Given the description of an element on the screen output the (x, y) to click on. 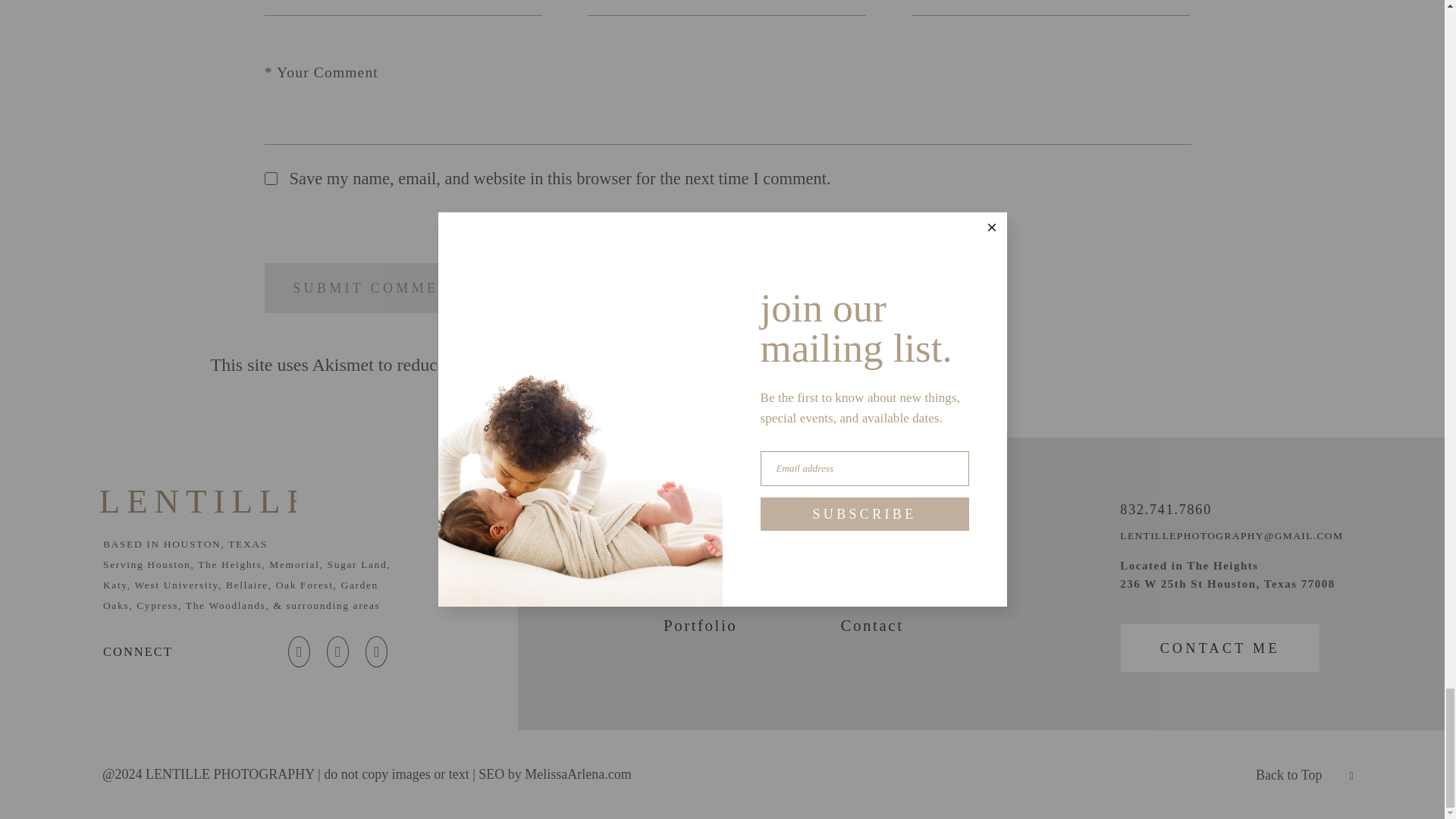
Pricing (692, 587)
Learn how your comment data is processed (655, 364)
Blog (860, 569)
Home (686, 512)
Portfolio (699, 625)
LENTILLE (198, 500)
Contact (872, 625)
Submit Comment (378, 287)
About (688, 549)
Submit Comment (378, 287)
Mentoring (882, 512)
Back to Top (1304, 774)
Back to Top (1288, 775)
